Given the description of an element on the screen output the (x, y) to click on. 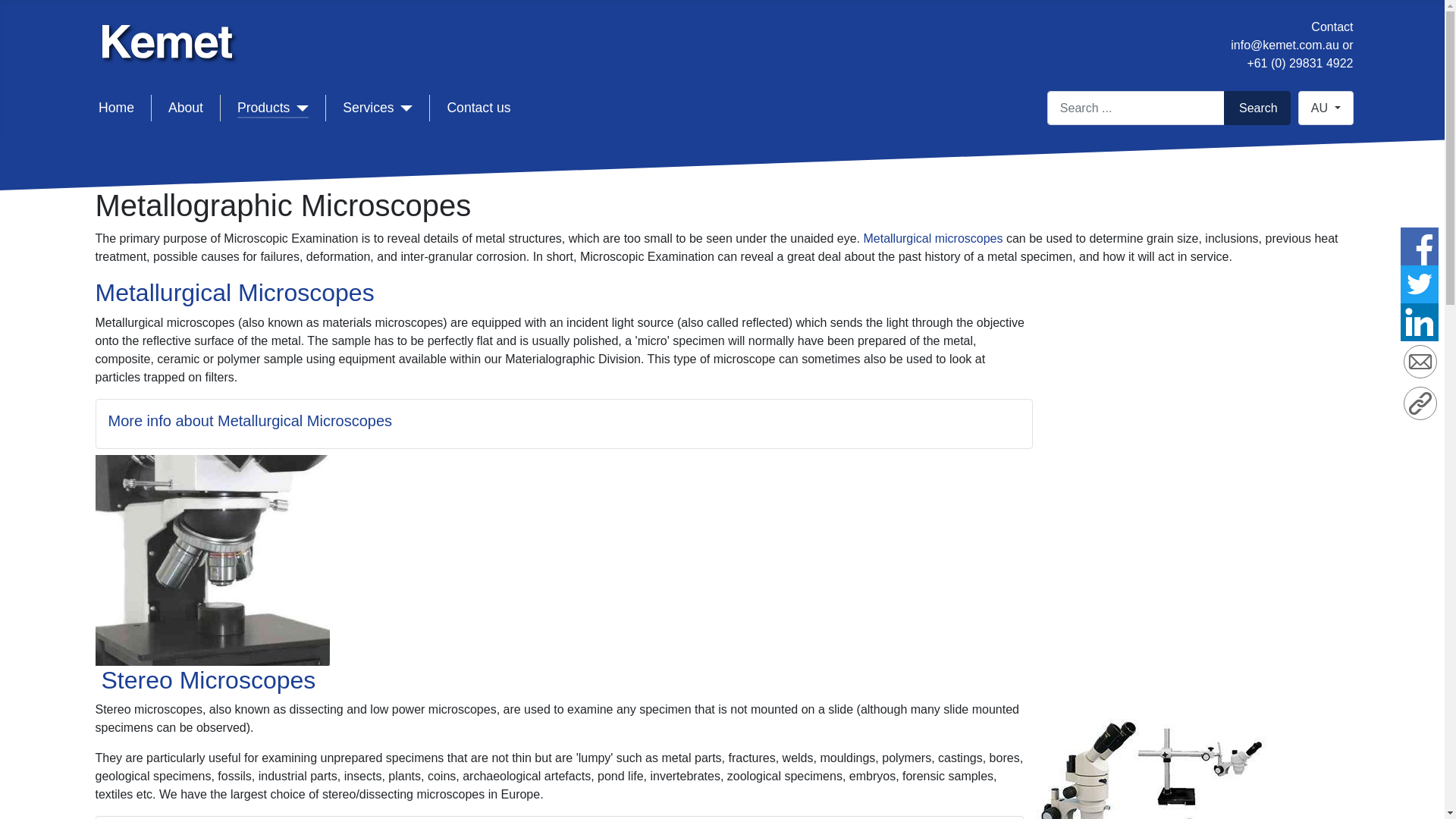
Search Element type: text (1256, 108)
Services Element type: text (377, 107)
More info about Metallurgical Microscopes Element type: text (249, 420)
Stereo Microscopes Element type: text (208, 679)
Contact us Element type: text (478, 107)
Home Element type: text (116, 107)
info@kemet.com.au Element type: text (1284, 44)
Email Element type: hover (1420, 363)
Metallurgical Microscopes Element type: text (234, 292)
Metallurgical microscopes Element type: text (932, 238)
Contact Element type: text (1331, 26)
Products Element type: text (272, 107)
Copy Link Element type: hover (1420, 403)
About Element type: text (185, 107)
AU Element type: text (1325, 108)
